Given the description of an element on the screen output the (x, y) to click on. 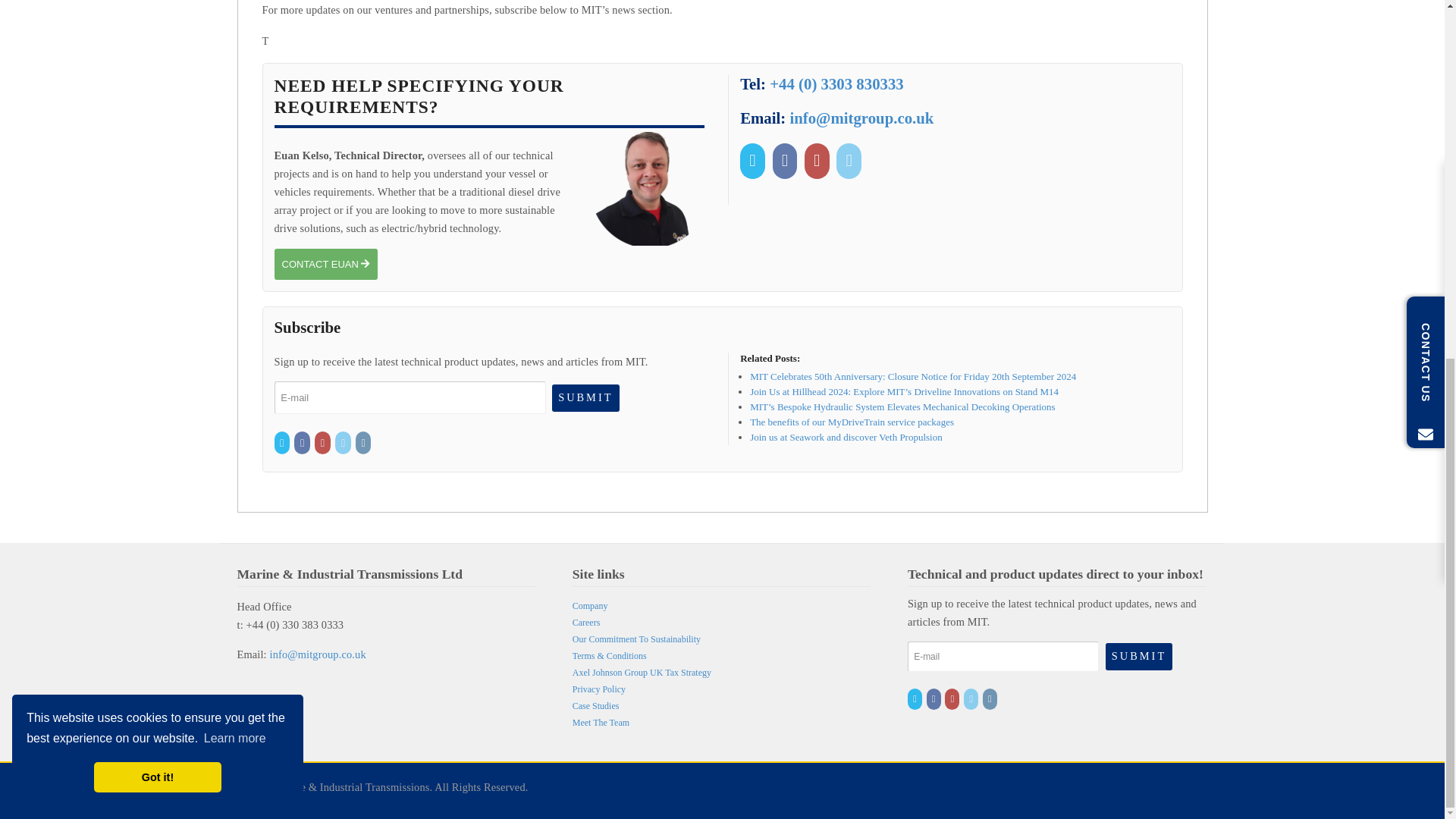
Submit (1138, 655)
Instagram (363, 442)
Twitter (283, 442)
Submit (584, 397)
YouTube (818, 159)
Facebook (302, 442)
E-mail (1003, 656)
E-mail (410, 397)
Learn more (234, 104)
Facebook (786, 159)
YouTube (322, 442)
LinkedIn (343, 442)
Twitter (753, 159)
Got it! (157, 142)
